Given the description of an element on the screen output the (x, y) to click on. 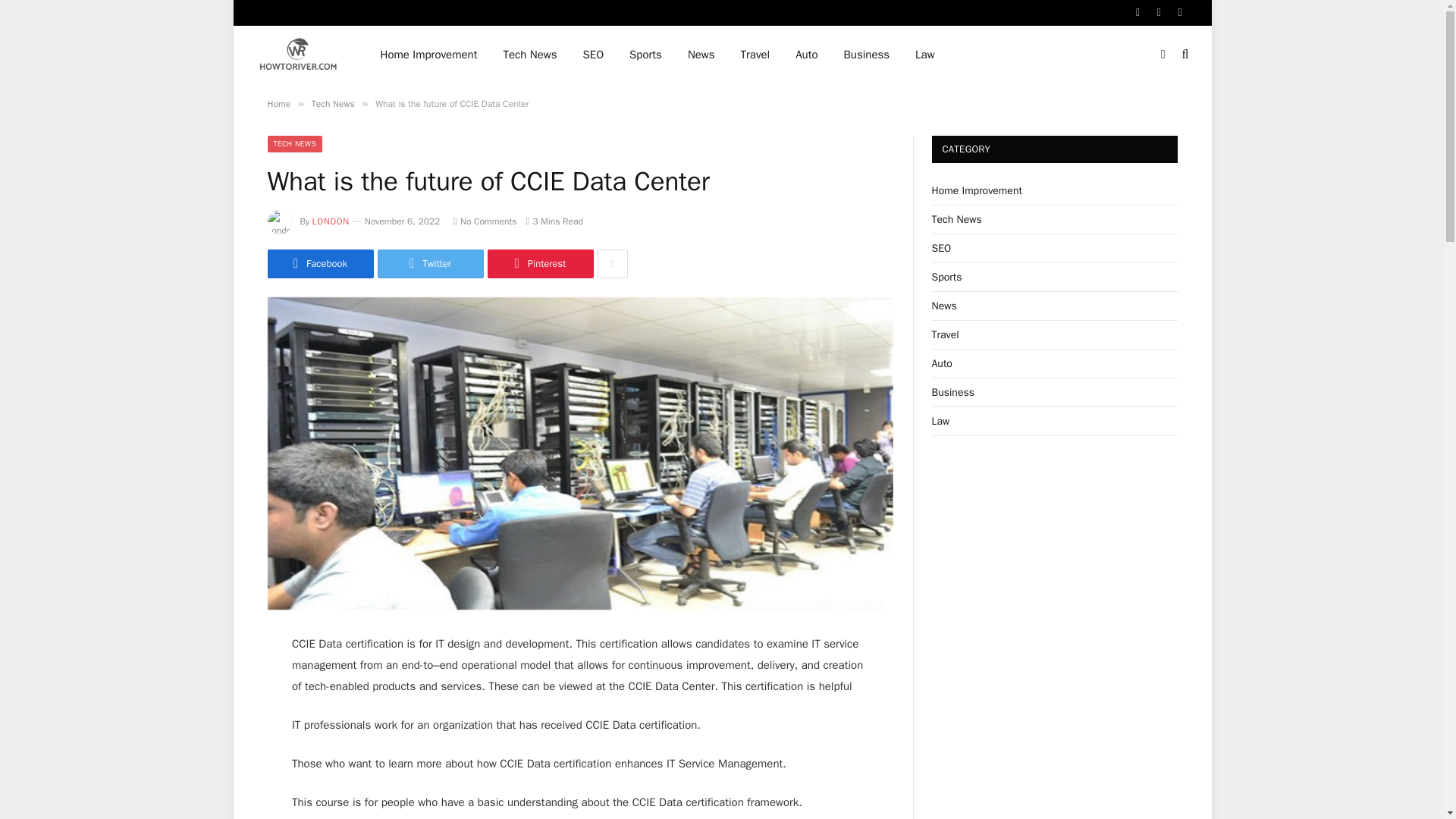
TECH NEWS (293, 143)
Home (277, 103)
LONDON (331, 221)
Tech News (529, 54)
Travel (755, 54)
Home Improvement (427, 54)
Facebook (319, 263)
No Comments (484, 221)
Business (866, 54)
Switch to Dark Design - easier on eyes. (1163, 54)
Sports (645, 54)
Share on Facebook (319, 263)
Twitter (430, 263)
Pinterest (539, 263)
Howtoriver.com (298, 54)
